Given the description of an element on the screen output the (x, y) to click on. 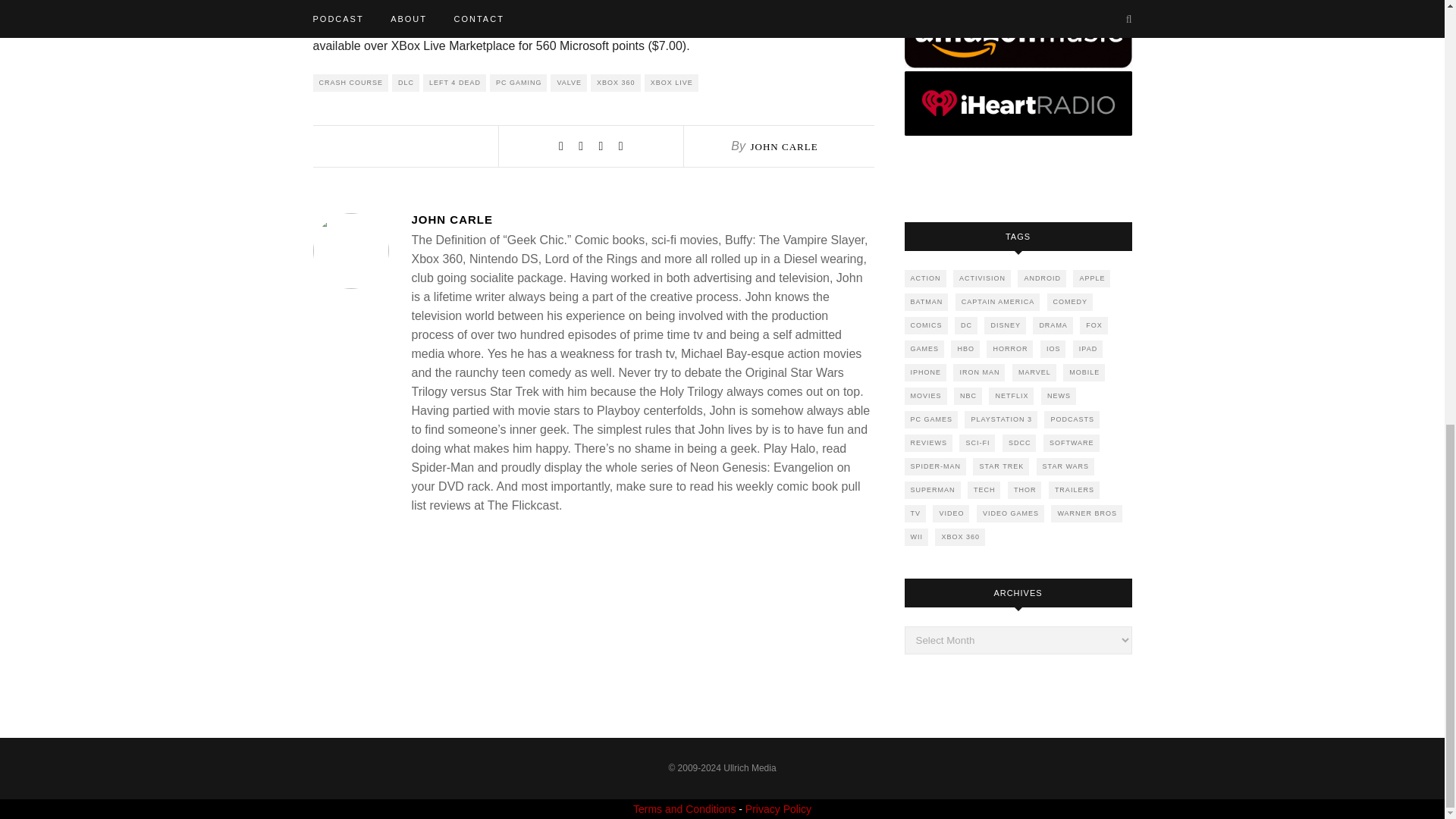
VALVE (568, 82)
LEFT 4 DEAD (454, 82)
JOHN CARLE (641, 219)
APPLE (1091, 278)
XBOX LIVE (671, 82)
JOHN CARLE (782, 146)
PC GAMING (518, 82)
DLC (405, 82)
XBOX 360 (615, 82)
ANDROID (1041, 278)
